Given the description of an element on the screen output the (x, y) to click on. 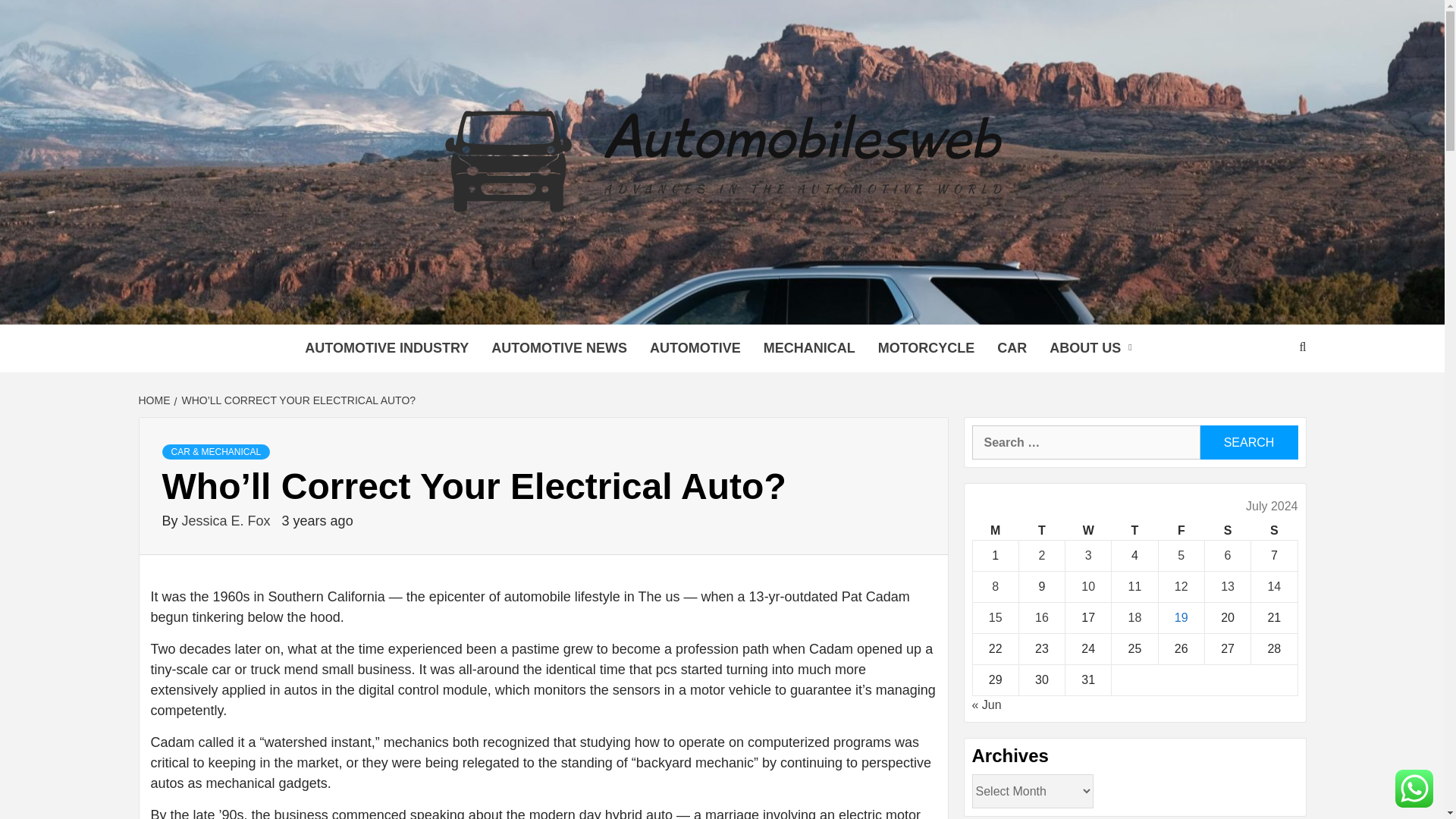
Search (1248, 442)
AUTOMOTIVE NEWS (559, 348)
Jessica E. Fox (228, 520)
MECHANICAL (809, 348)
AUTOMOTIVE (695, 348)
AUTOMOTIVE INDUSTRY (387, 348)
Wednesday (1088, 530)
CAR (1011, 348)
MOTORCYCLE (926, 348)
13 (1227, 585)
Sunday (1273, 530)
HOME (155, 399)
Search (1248, 442)
Friday (1180, 530)
11 (1134, 585)
